Given the description of an element on the screen output the (x, y) to click on. 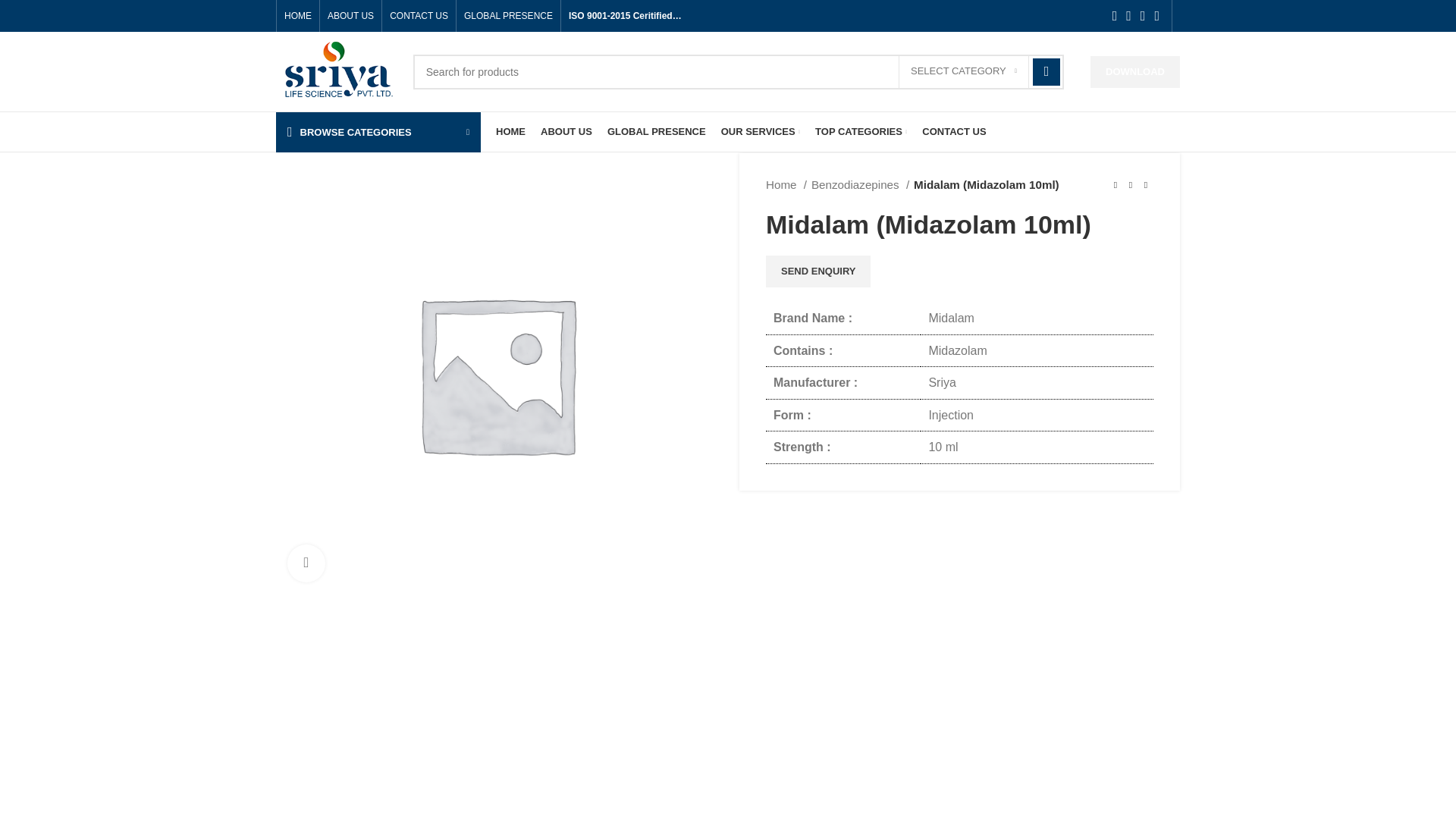
Search for products (738, 71)
ABOUT US (350, 15)
GLOBAL PRESENCE (508, 15)
CONTACT US (419, 15)
SELECT CATEGORY (963, 71)
SELECT CATEGORY (963, 71)
